Given the description of an element on the screen output the (x, y) to click on. 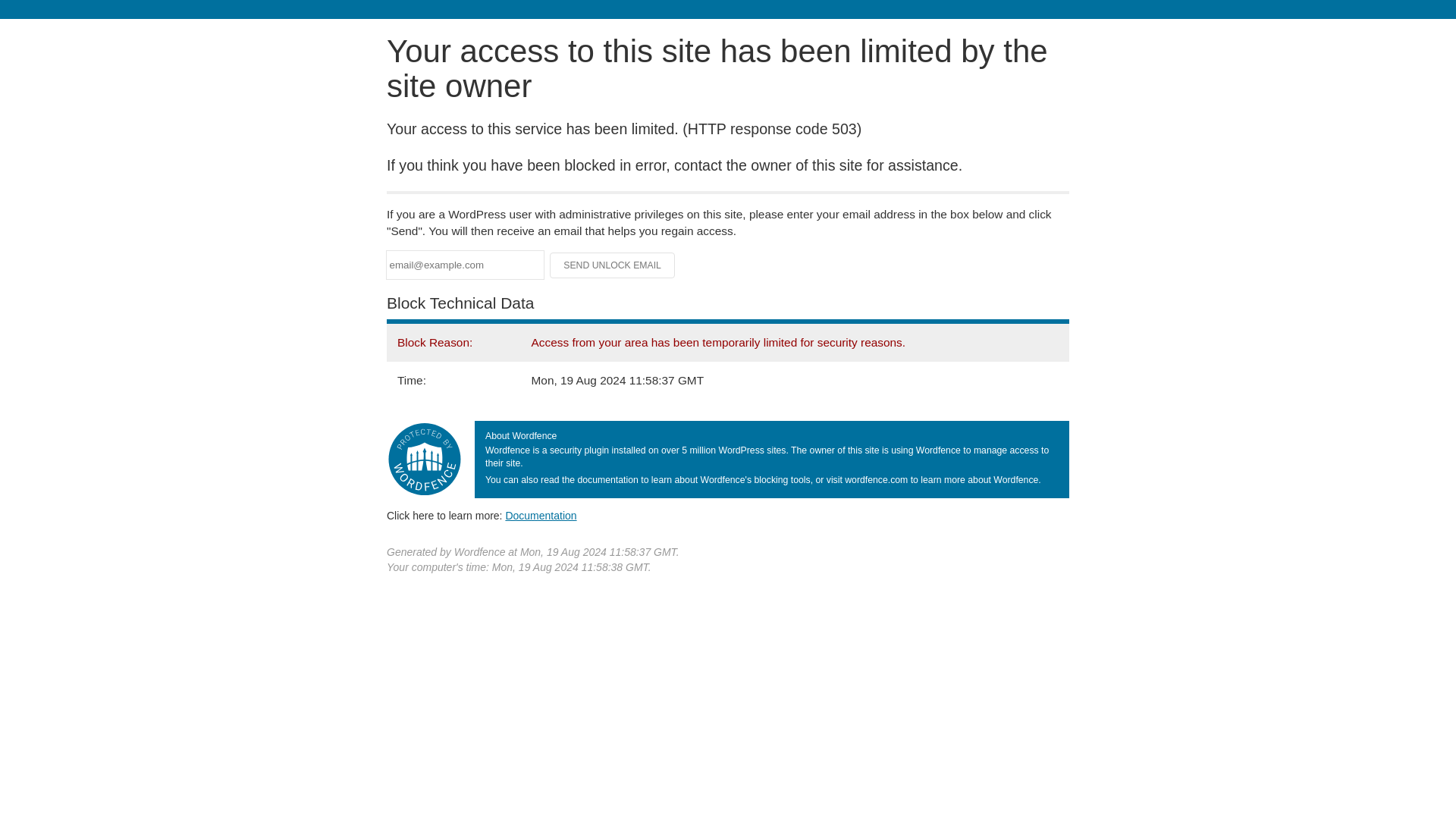
Documentation (540, 515)
Send Unlock Email (612, 265)
Send Unlock Email (612, 265)
